Given the description of an element on the screen output the (x, y) to click on. 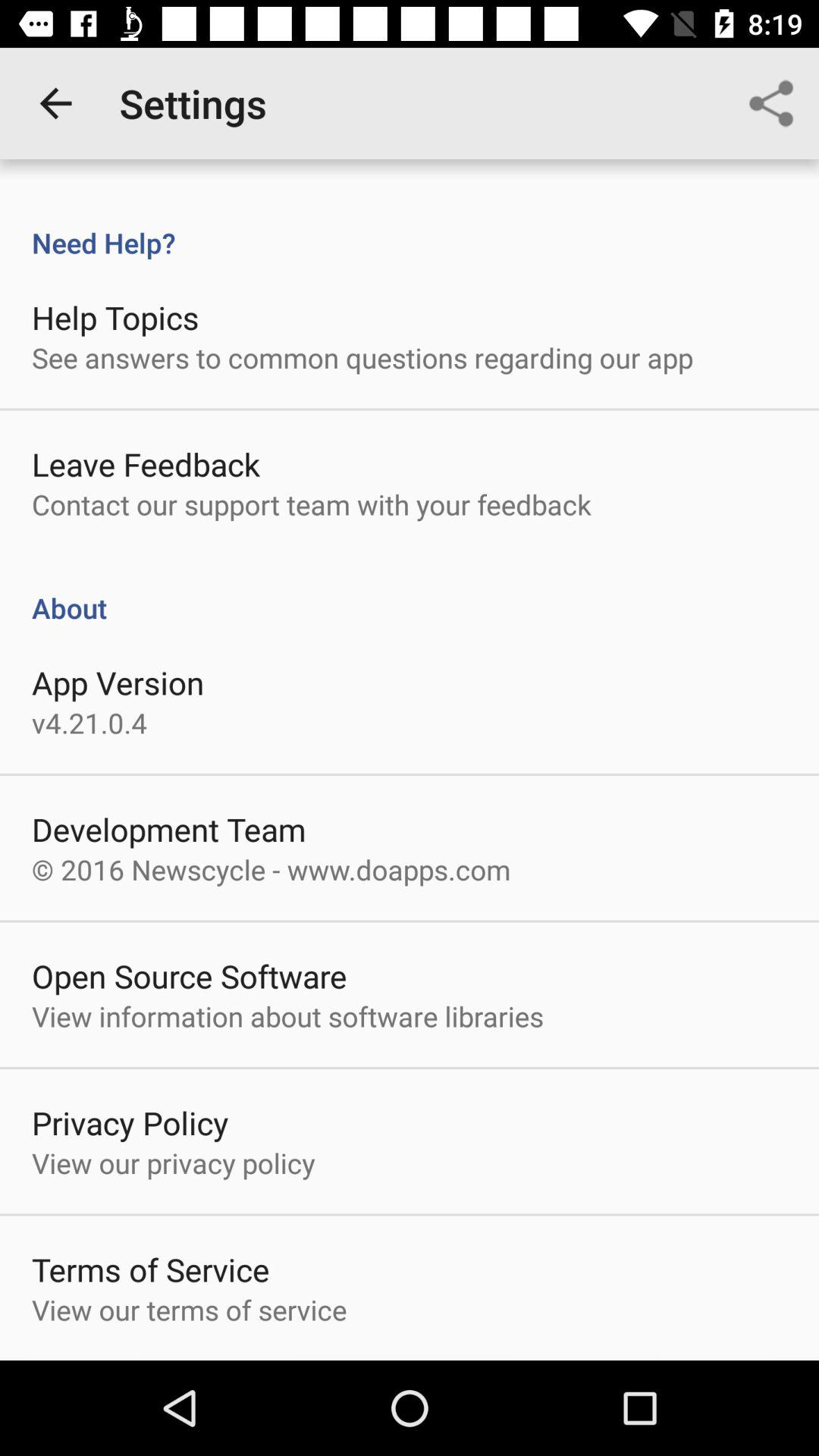
scroll to the contact our support (311, 504)
